Given the description of an element on the screen output the (x, y) to click on. 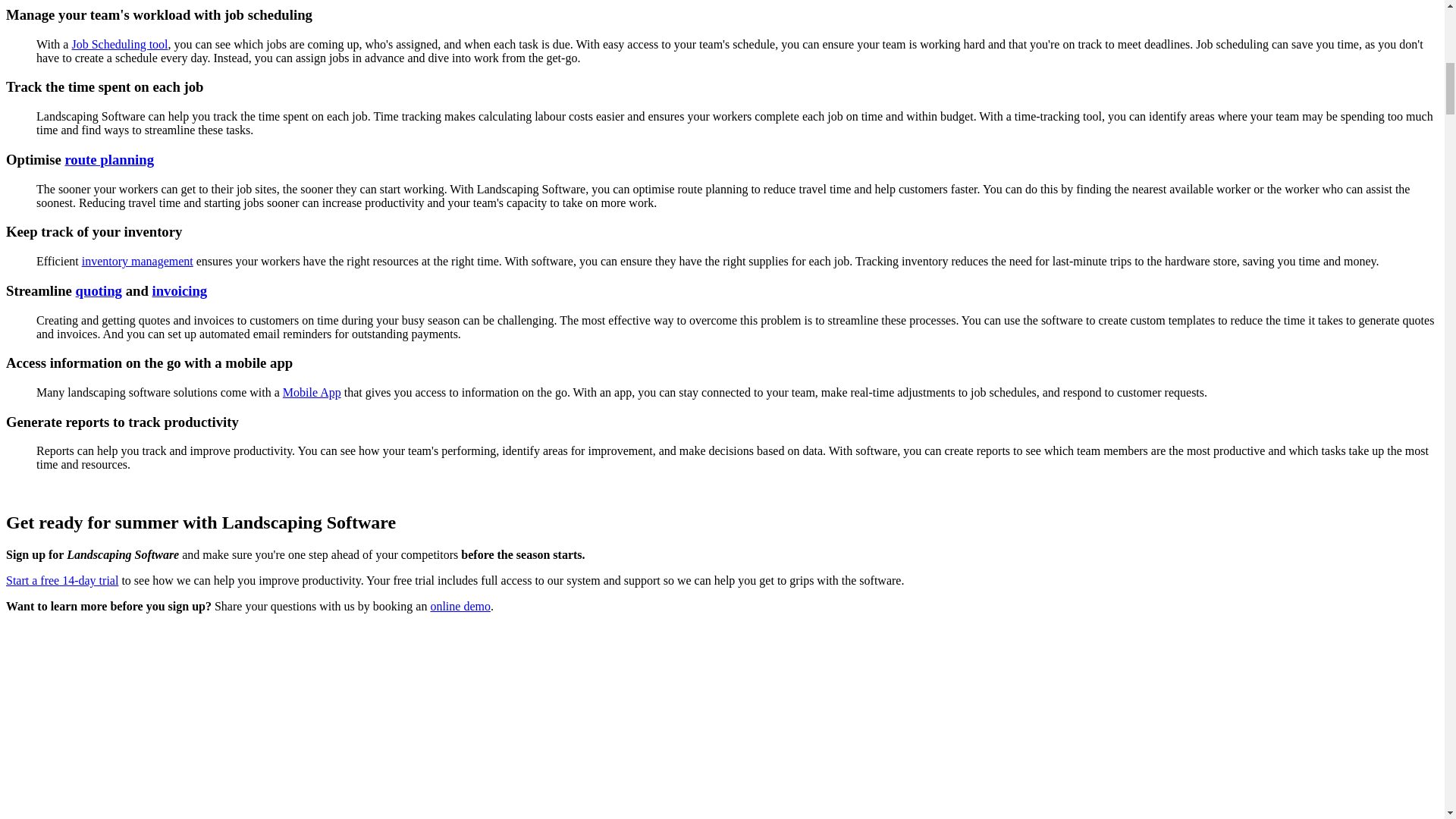
quoting (98, 290)
online demo (459, 605)
Mobile App (311, 391)
route planning (109, 159)
Start a free 14-day trial (61, 580)
invoicing (178, 290)
inventory management (137, 260)
Job Scheduling tool (119, 43)
